Given the description of an element on the screen output the (x, y) to click on. 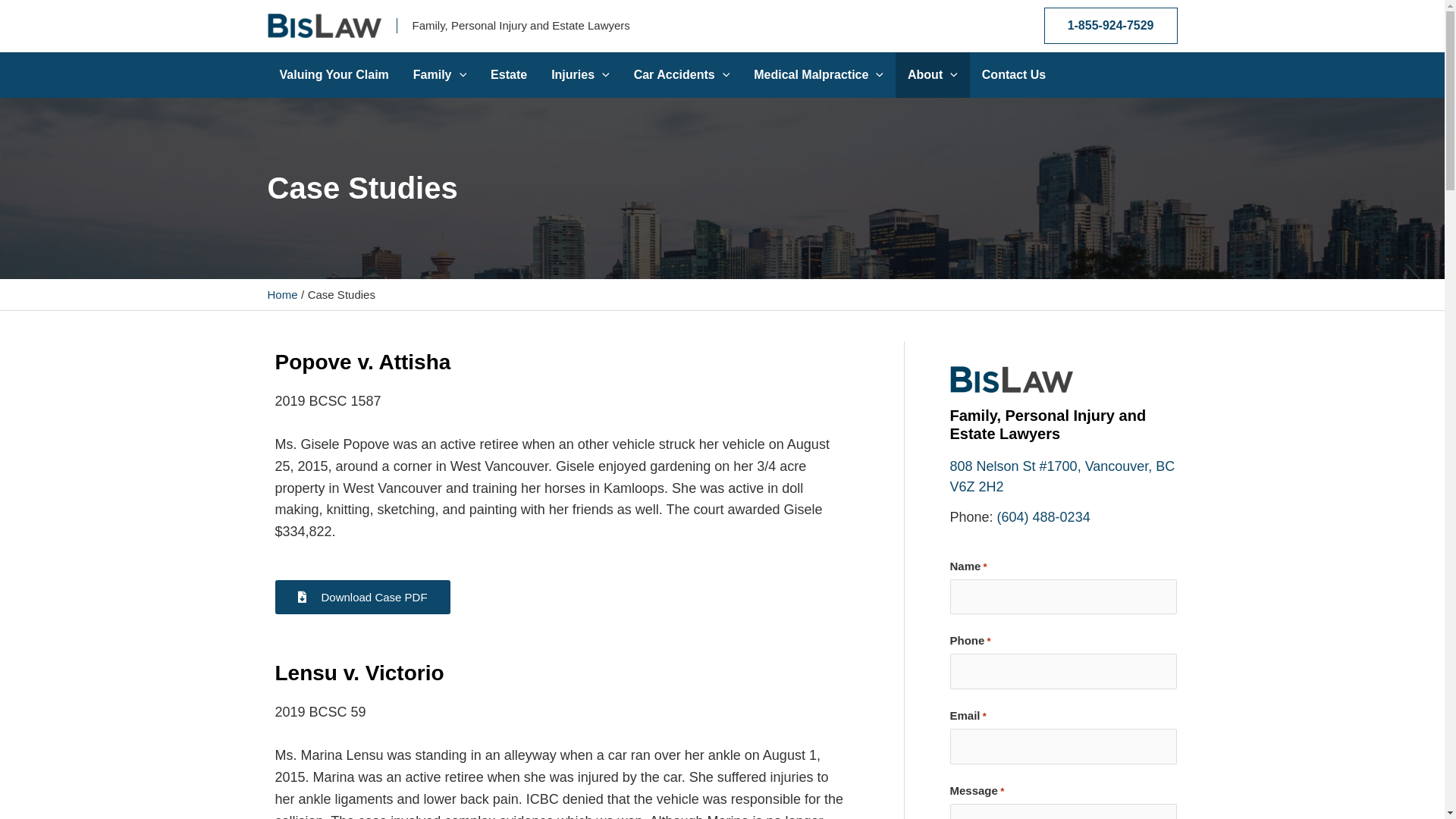
Contact Us Element type: text (1013, 74)
(604) 488-0234 Element type: text (1043, 516)
Valuing Your Claim Element type: text (333, 74)
Car Accidents Element type: text (681, 74)
Medical Malpractice Element type: text (818, 74)
About Element type: text (932, 74)
1-855-924-7529 Element type: text (1110, 25)
Family Element type: text (439, 74)
Injuries Element type: text (580, 74)
Home Element type: text (281, 294)
Download Case PDF Element type: text (361, 597)
Estate Element type: text (508, 74)
808 Nelson St #1700, Vancouver, BC V6Z 2H2 Element type: text (1061, 475)
